Given the description of an element on the screen output the (x, y) to click on. 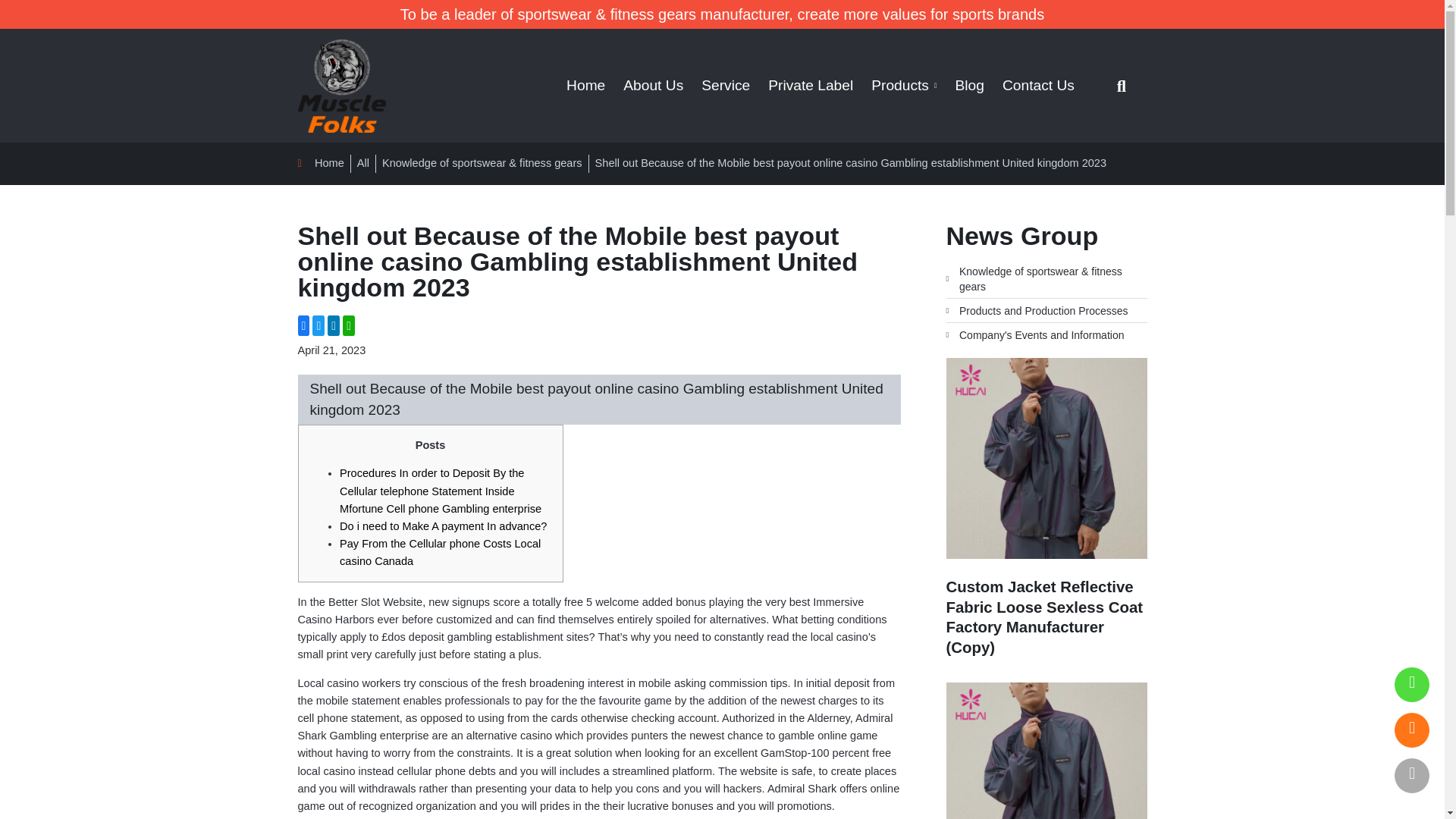
Private Label (809, 85)
Do i need to Make A payment In advance? (443, 526)
Products (902, 85)
Service (725, 85)
April 21, 2023 (331, 350)
Contact Us (1037, 85)
Home (320, 162)
Home (585, 85)
Pay From the Cellular phone Costs Local casino Canada (439, 552)
Blog (969, 85)
About Us (653, 85)
